Given the description of an element on the screen output the (x, y) to click on. 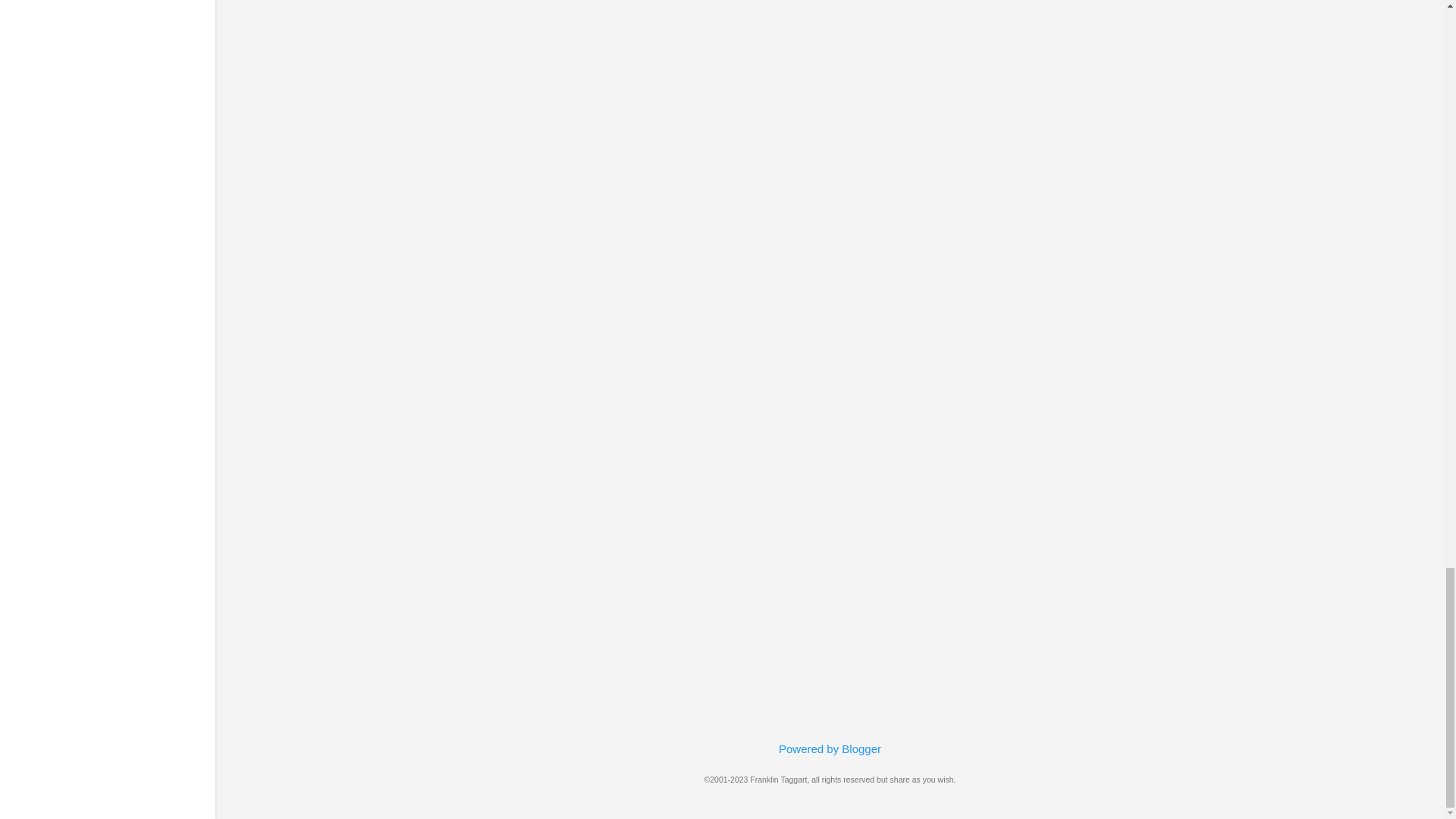
Powered by Blogger (829, 748)
